Given the description of an element on the screen output the (x, y) to click on. 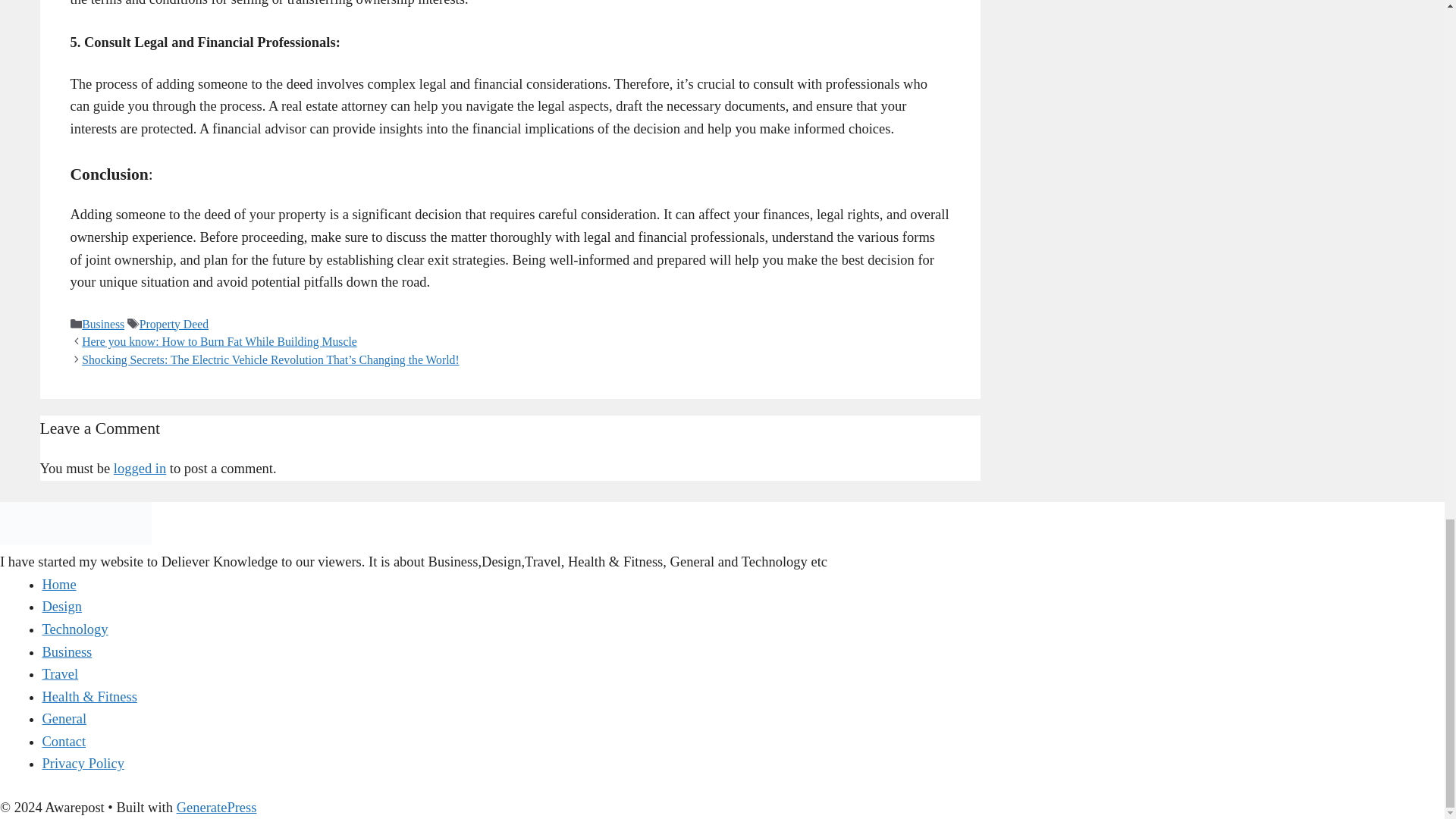
Here you know: How to Burn Fat While Building Muscle (218, 341)
General (64, 718)
Home (59, 584)
Travel (60, 673)
Design (61, 606)
Property Deed (173, 323)
logged in (139, 468)
Awarepost.com (75, 539)
Business (67, 651)
Technology (74, 629)
Business (102, 323)
